Given the description of an element on the screen output the (x, y) to click on. 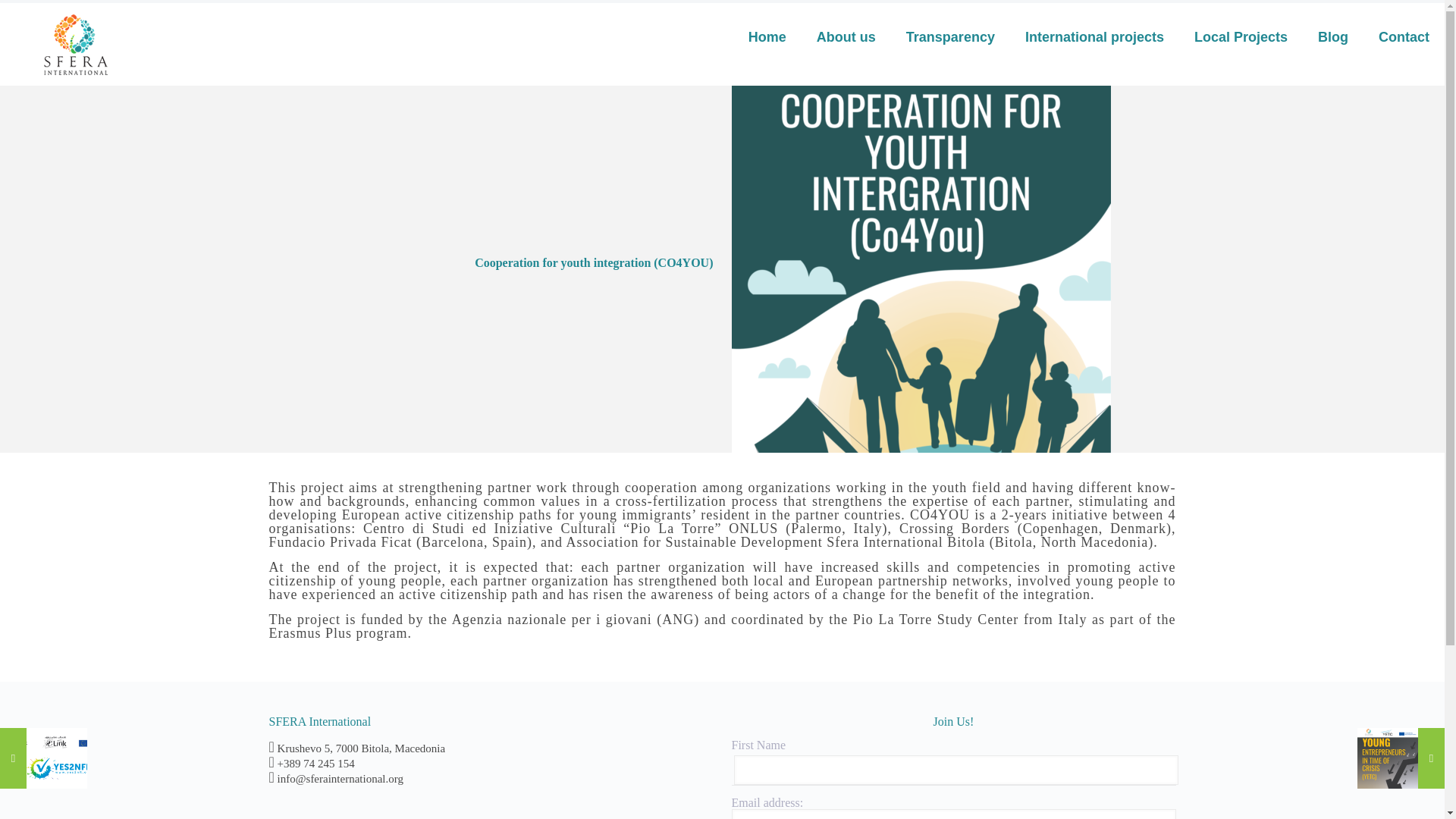
International projects (1094, 37)
Local Projects (1241, 37)
About us (846, 37)
Transparency (950, 37)
Home (767, 37)
